Given the description of an element on the screen output the (x, y) to click on. 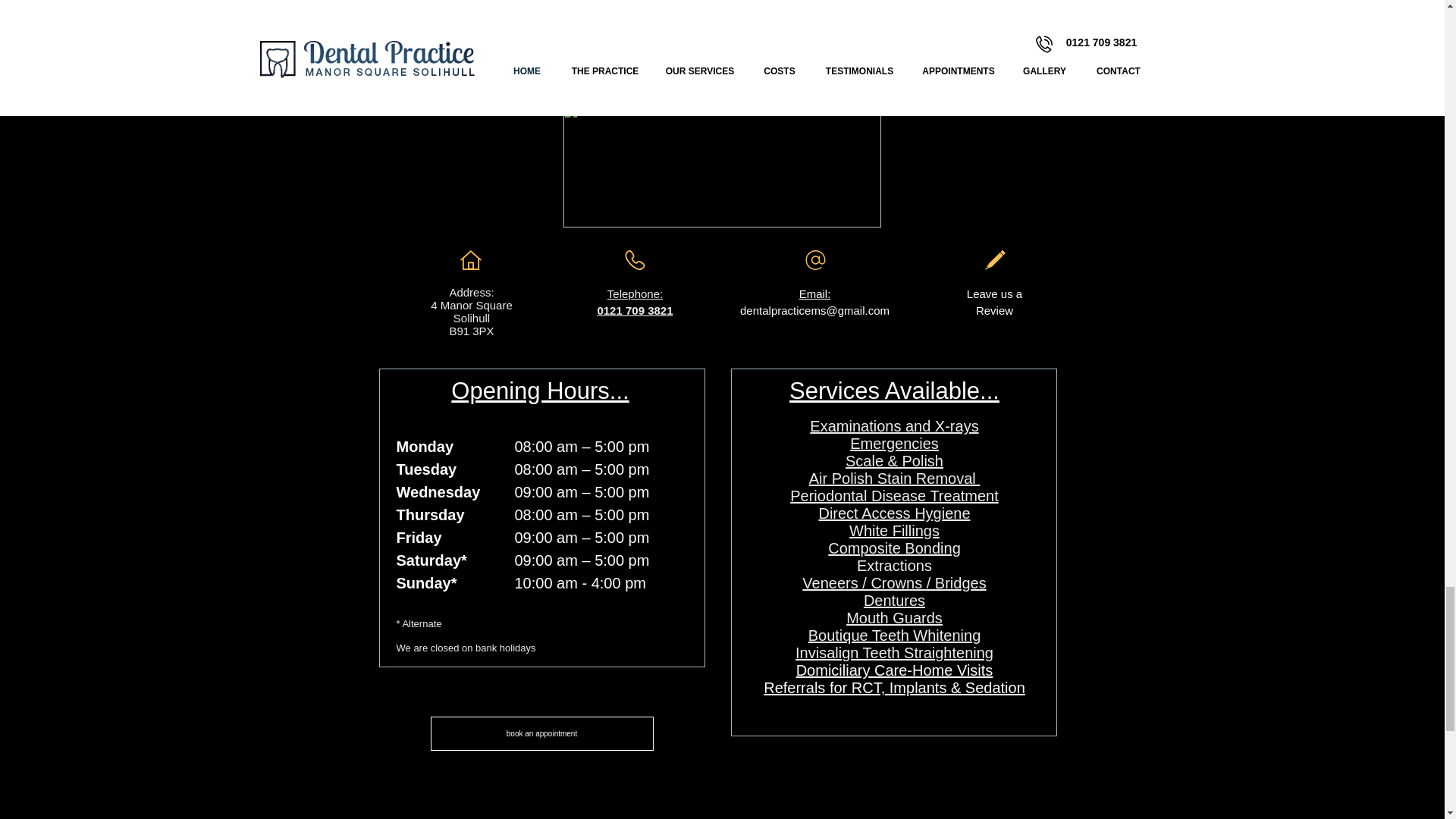
gold white edge.png (721, 165)
